Given the description of an element on the screen output the (x, y) to click on. 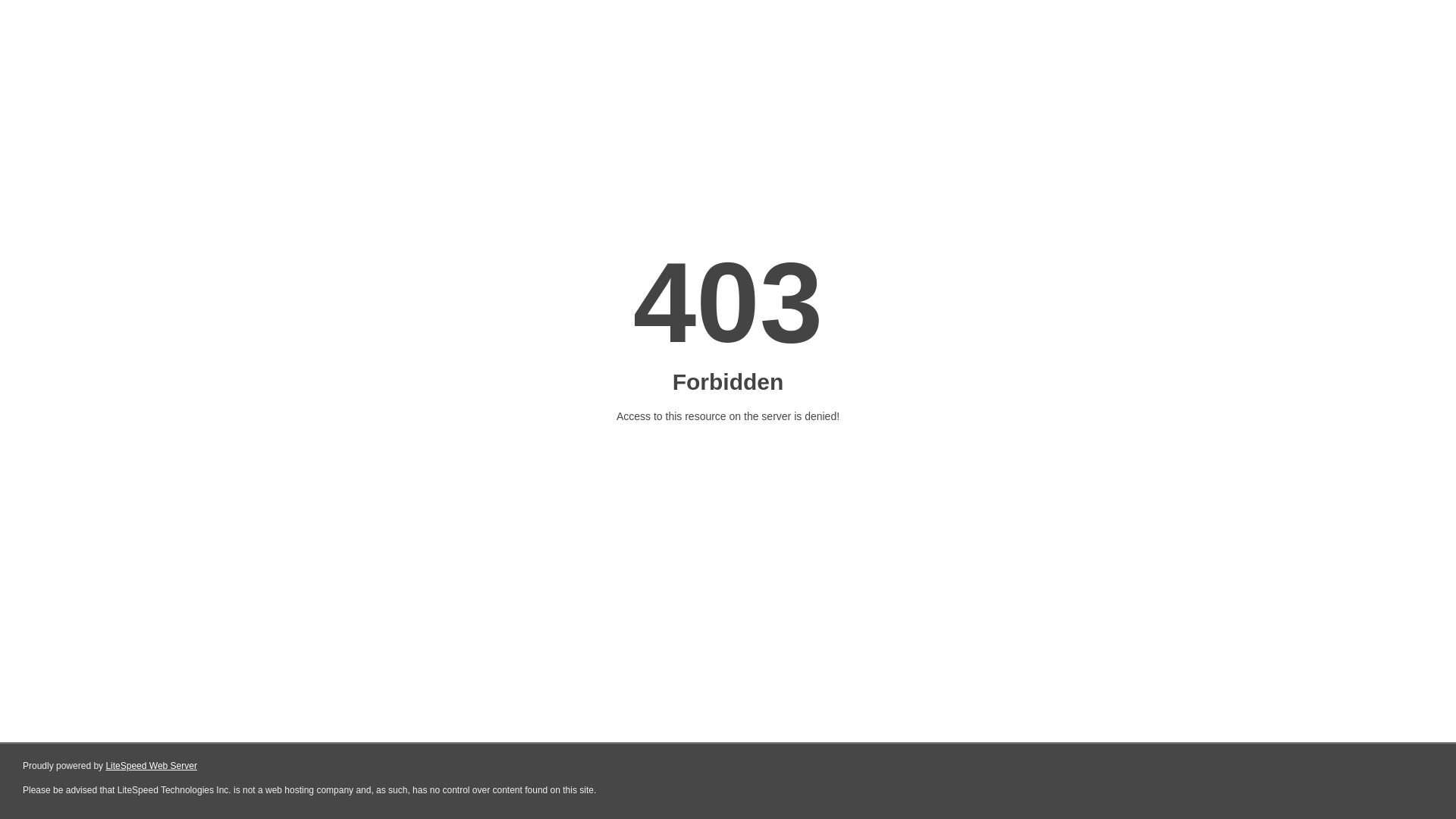
LiteSpeed Web Server (150, 765)
